Given the description of an element on the screen output the (x, y) to click on. 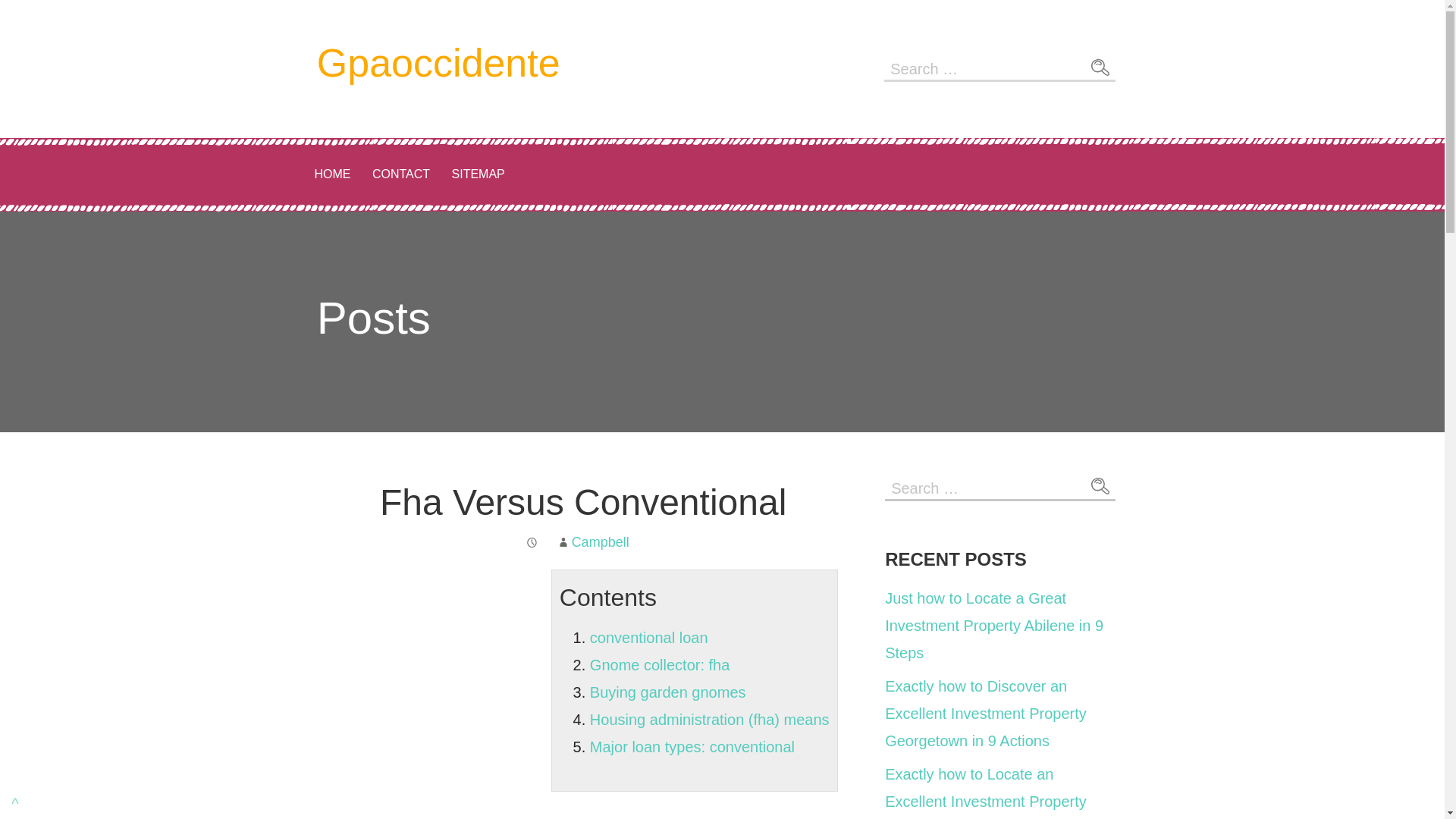
HOME (331, 174)
Buying garden gnomes (667, 692)
Gnome collector: fha (659, 664)
SITEMAP (477, 174)
Gpaoccidente (438, 62)
Campbell (600, 541)
Search (1099, 486)
CONTACT (400, 174)
conventional loan (648, 637)
Search (1099, 486)
Posts by Campbell (600, 541)
Search (1099, 67)
